Given the description of an element on the screen output the (x, y) to click on. 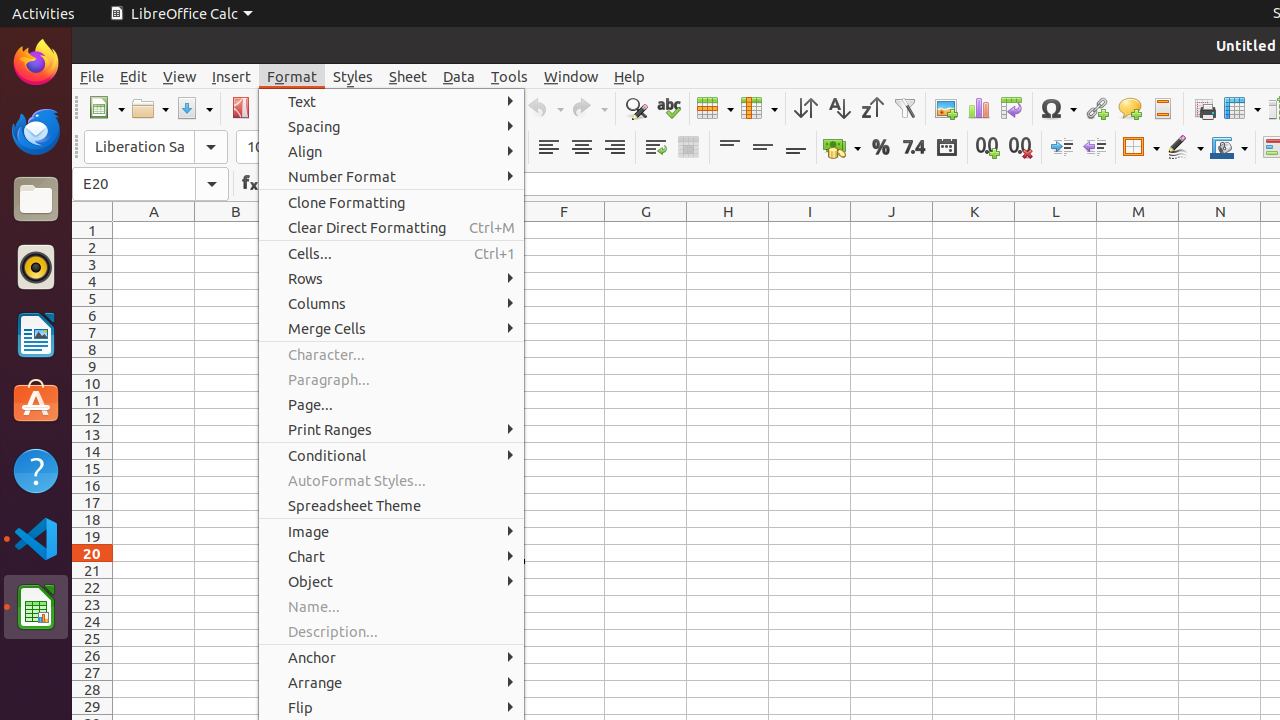
Comment Element type: push-button (1129, 108)
Tools Element type: menu (509, 76)
Redo Element type: push-button (589, 108)
LibreOffice Calc Element type: push-button (36, 607)
Print Area Element type: push-button (1203, 108)
